Given the description of an element on the screen output the (x, y) to click on. 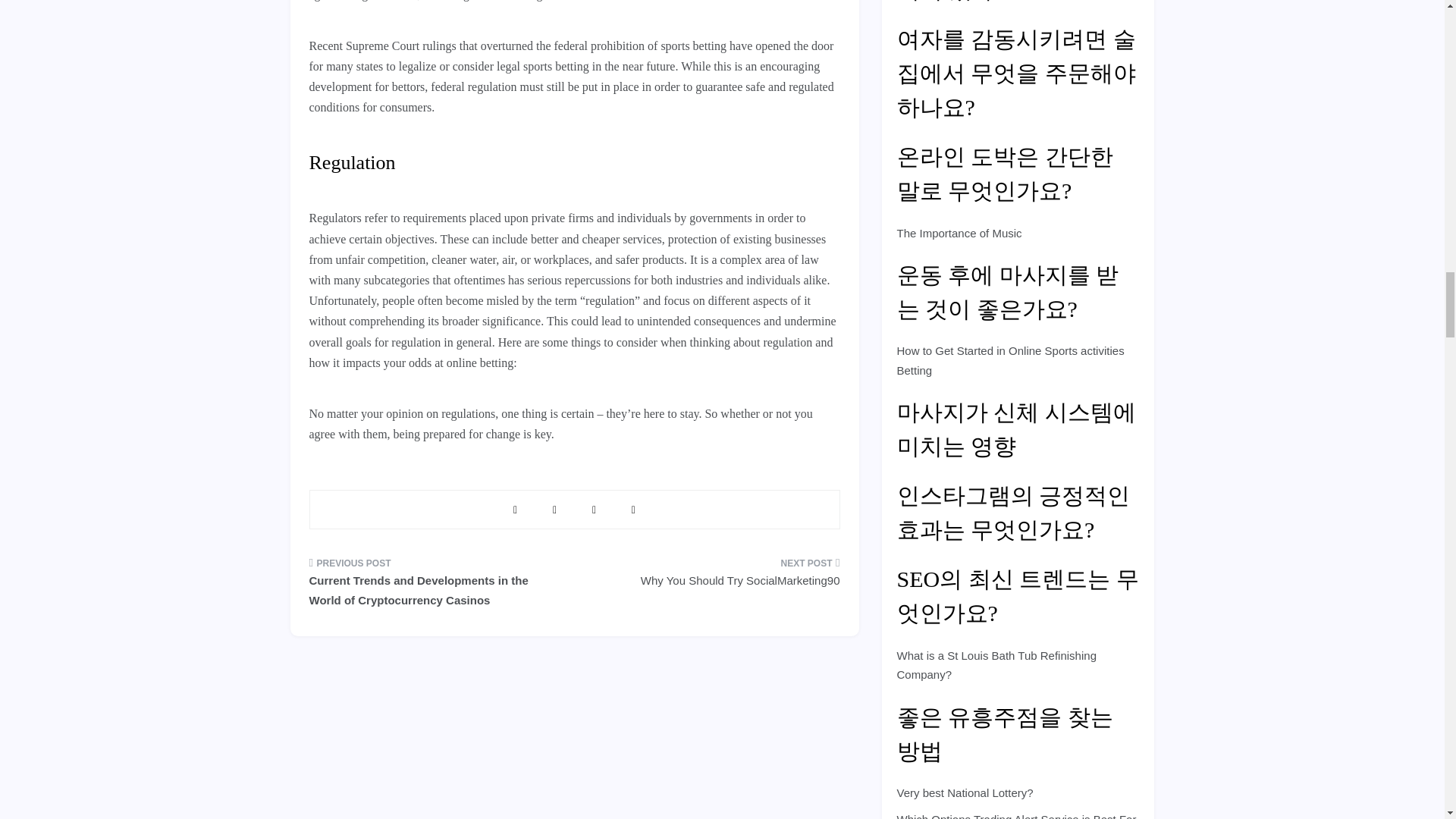
Why You Should Try SocialMarketing90 (712, 577)
